Given the description of an element on the screen output the (x, y) to click on. 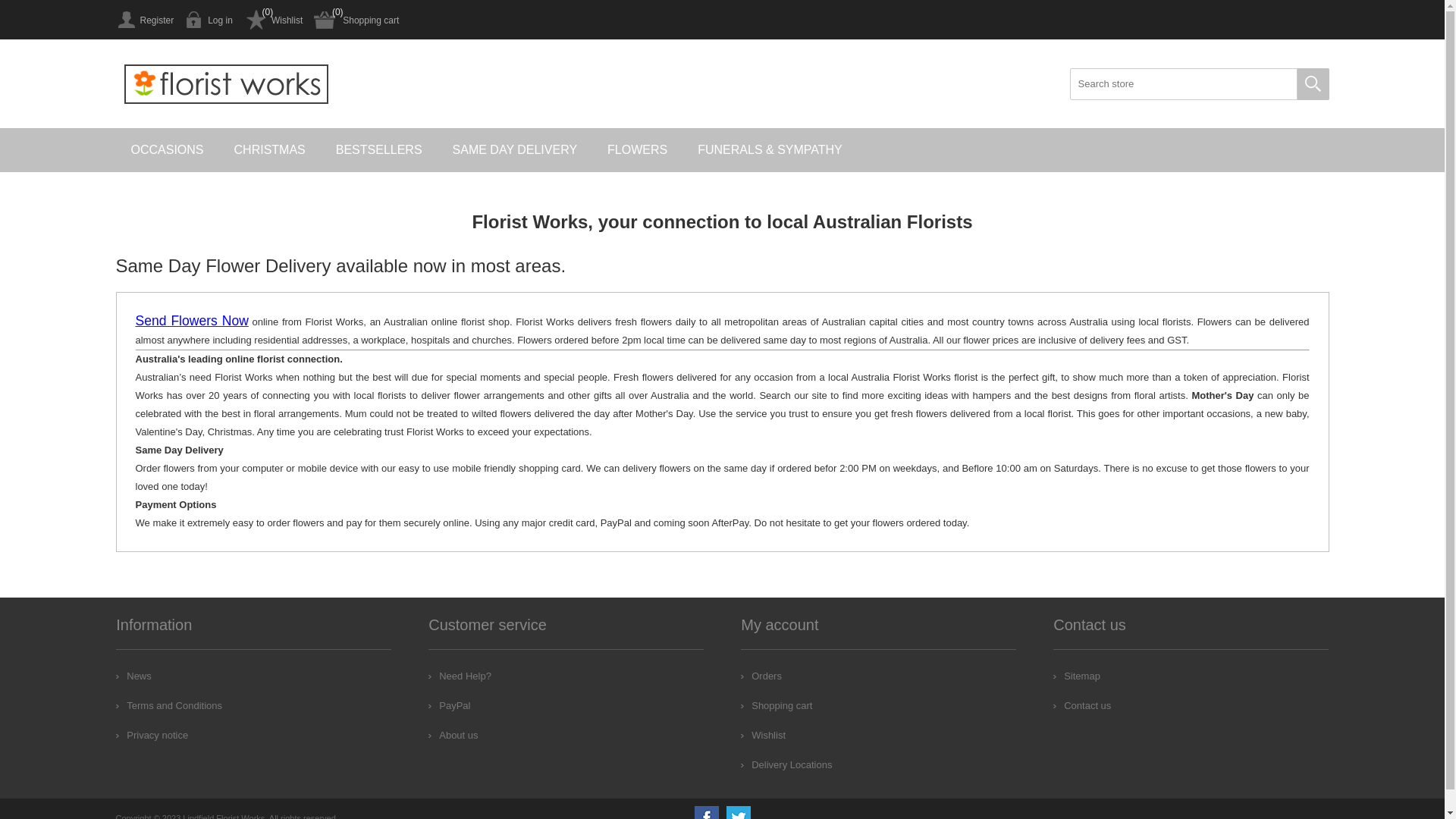
Register Element type: text (144, 19)
Send Flowers Now Element type: text (190, 321)
Search Element type: text (1312, 84)
About us Element type: text (452, 734)
Orders Element type: text (760, 675)
Shopping cart Element type: text (355, 19)
CHRISTMAS Element type: text (269, 150)
Need Help? Element type: text (459, 675)
OCCASIONS Element type: text (166, 150)
News Element type: text (133, 675)
Sitemap Element type: text (1076, 675)
BESTSELLERS Element type: text (378, 150)
Wishlist Element type: text (762, 734)
SAME DAY DELIVERY Element type: text (515, 150)
Log in Element type: text (208, 19)
Privacy notice Element type: text (152, 734)
FLOWERS Element type: text (637, 150)
Shopping cart Element type: text (776, 705)
FUNERALS & SYMPATHY Element type: text (769, 150)
Delivery Locations Element type: text (785, 764)
Contact us Element type: text (1081, 705)
PayPal Element type: text (449, 705)
Wishlist Element type: text (273, 19)
Terms and Conditions Element type: text (169, 705)
